Given the description of an element on the screen output the (x, y) to click on. 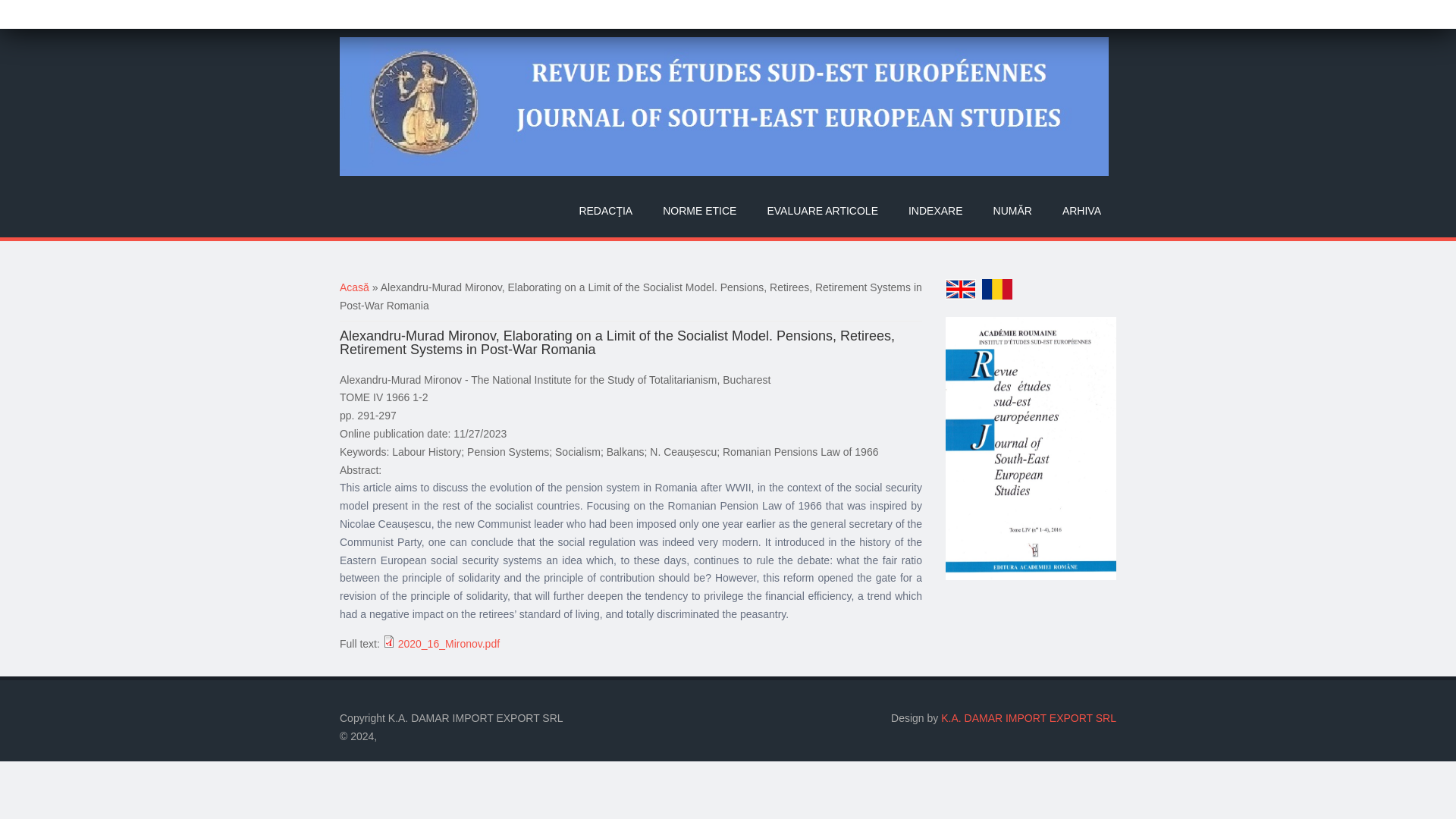
ARHIVA (1081, 210)
INDEXARE (935, 210)
NORME ETICE (699, 210)
EVALUARE ARTICOLE (822, 210)
K.A. DAMAR IMPORT EXPORT SRL (1028, 717)
